Given the description of an element on the screen output the (x, y) to click on. 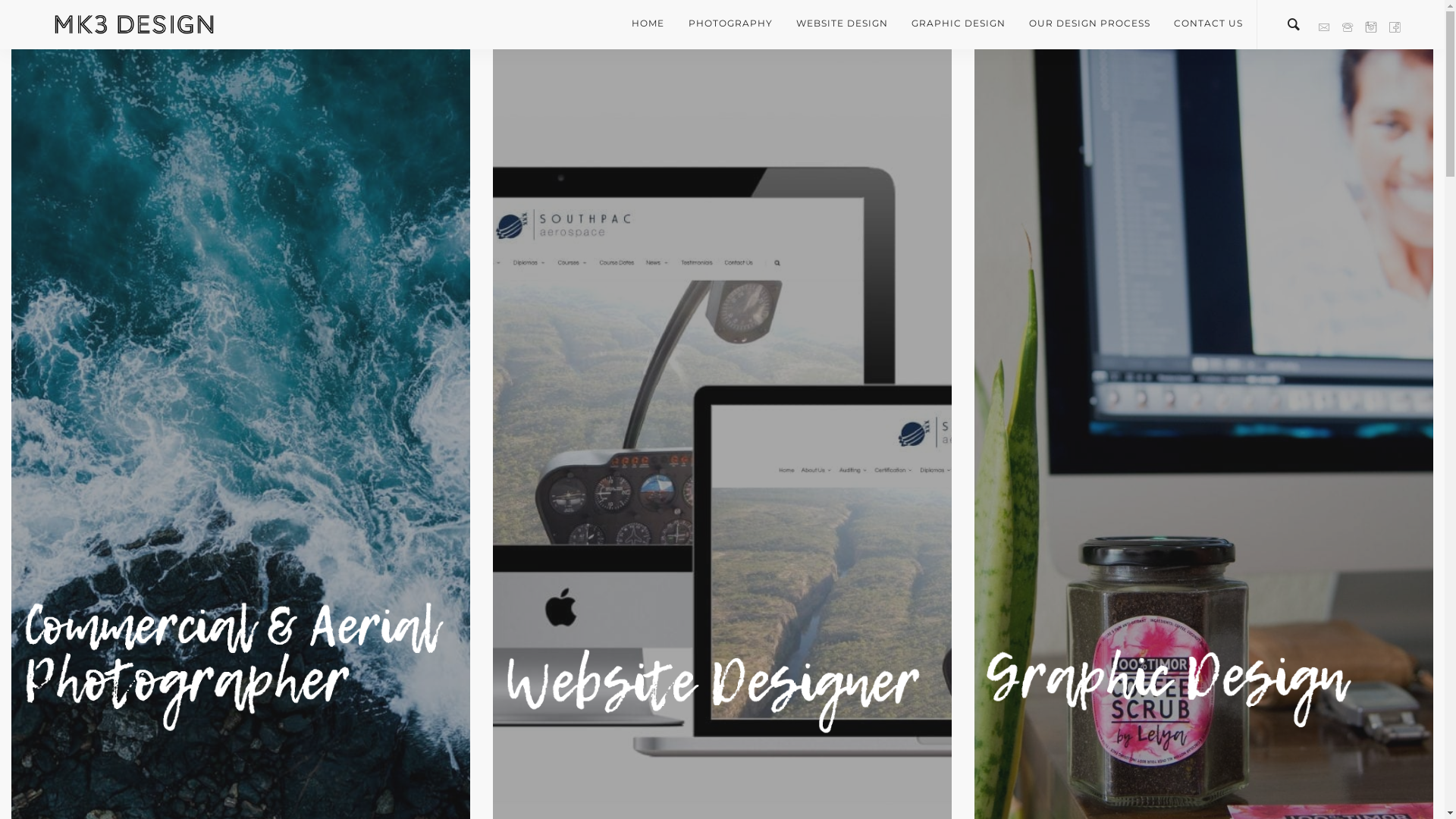
Graphic-Design-white Element type: hover (1195, 690)
Website-Designer_white Element type: hover (714, 690)
Photographer_Commercial_Aerial_white Element type: hover (232, 667)
OUR DESIGN PROCESS Element type: text (1088, 23)
HOME Element type: text (653, 23)
PHOTOGRAPHY Element type: text (730, 23)
CONTACT US Element type: text (1202, 23)
WEBSITE DESIGN Element type: text (841, 23)
GRAPHIC DESIGN Element type: text (957, 23)
